Given the description of an element on the screen output the (x, y) to click on. 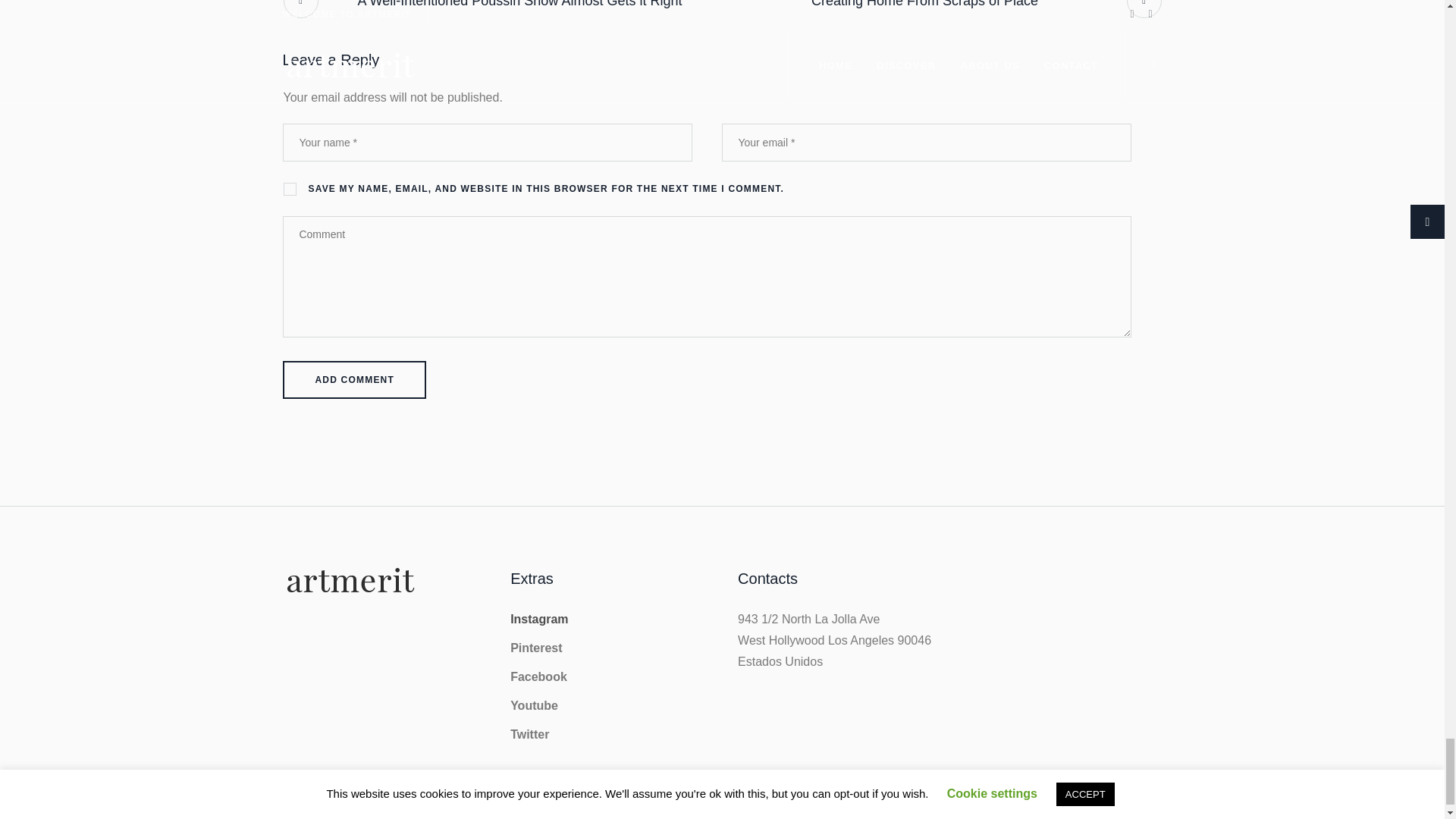
Add Comment (354, 379)
